Given the description of an element on the screen output the (x, y) to click on. 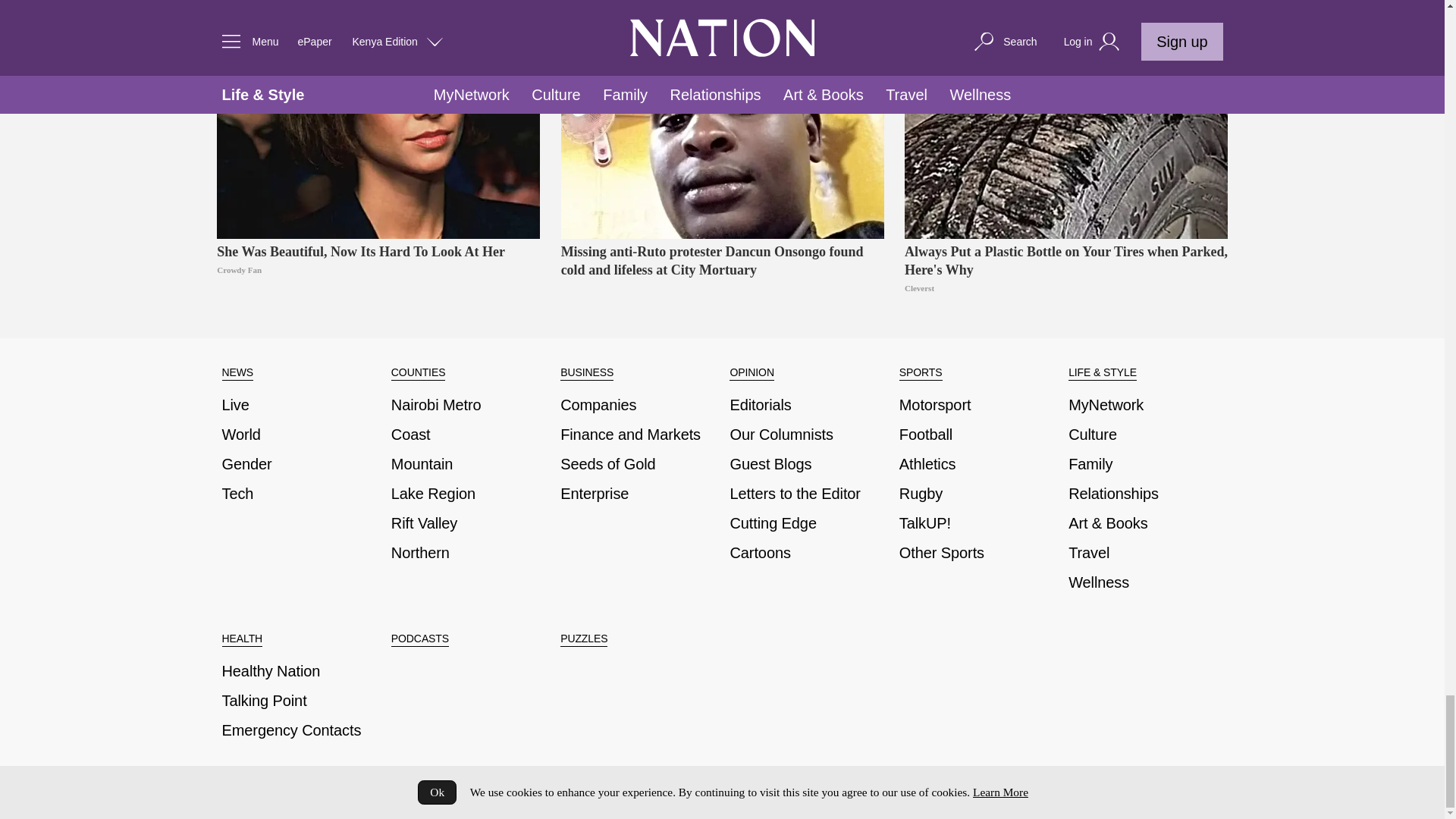
She Was Beautiful, Now Its Hard To Look At Her (378, 119)
